Given the description of an element on the screen output the (x, y) to click on. 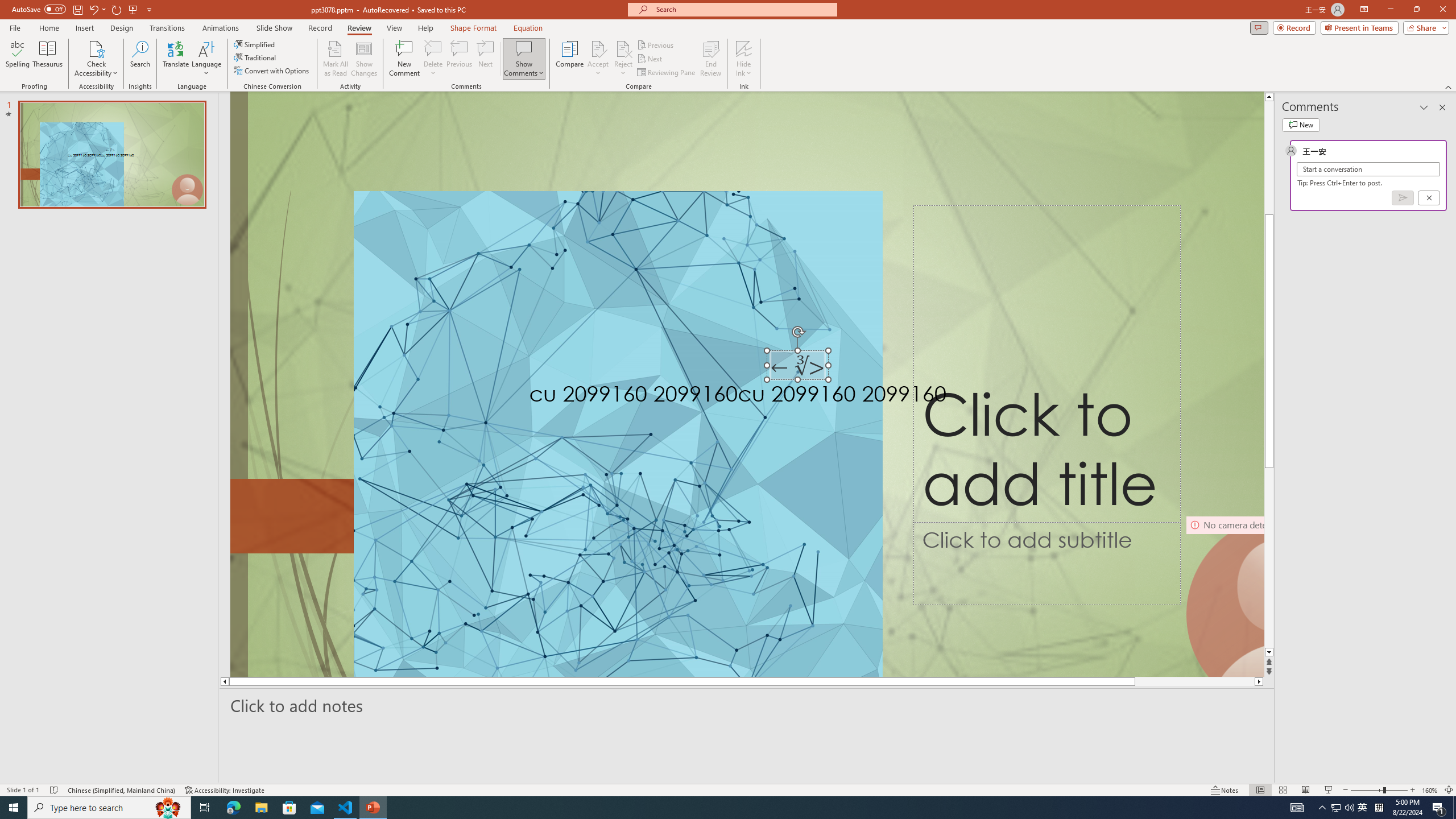
Accept (598, 58)
Reject Change (622, 48)
An abstract genetic concept (746, 383)
Traditional (255, 56)
Start a conversation (1368, 168)
Simplified (254, 44)
